Given the description of an element on the screen output the (x, y) to click on. 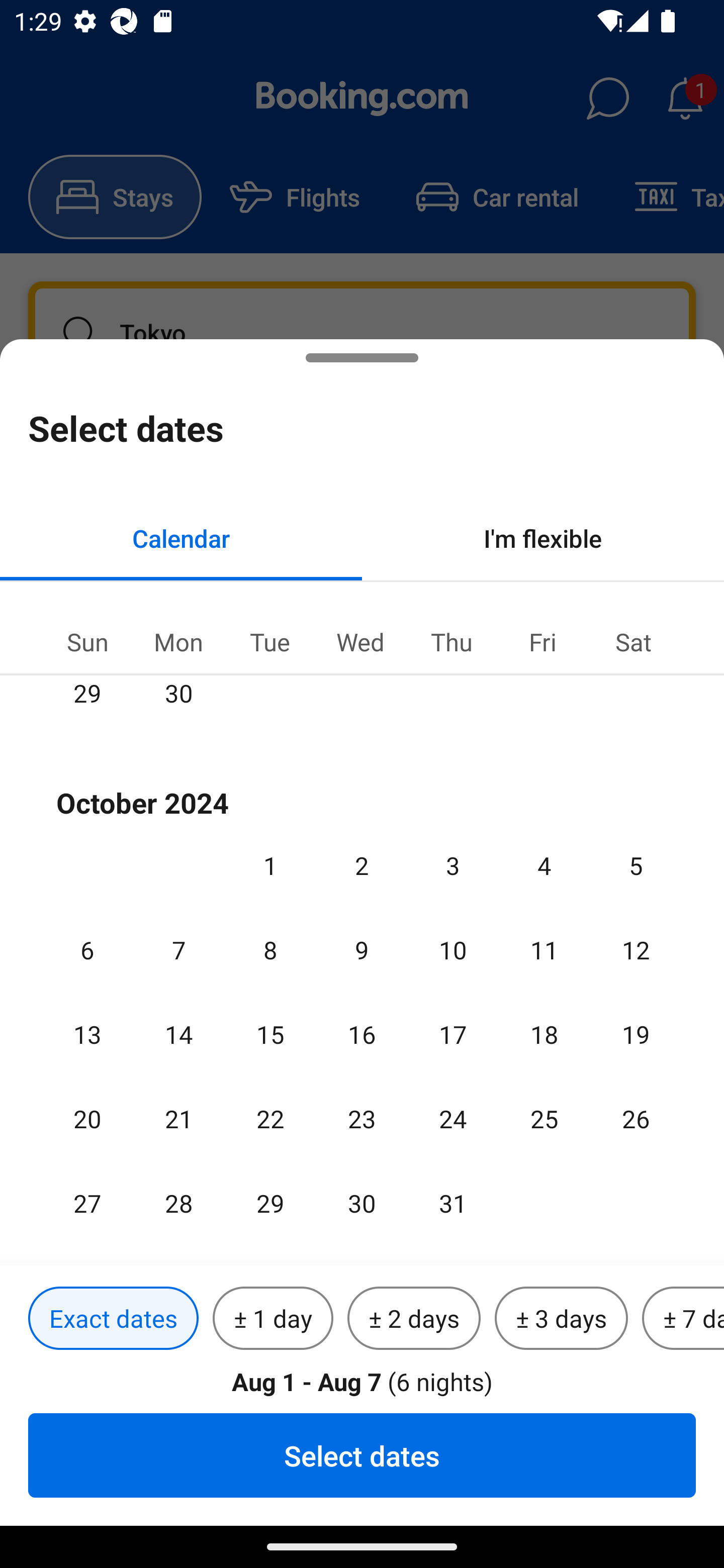
I'm flexible (543, 537)
Exact dates (113, 1318)
± 1 day (272, 1318)
± 2 days (413, 1318)
± 3 days (560, 1318)
± 7 days (683, 1318)
Select dates (361, 1454)
